Given the description of an element on the screen output the (x, y) to click on. 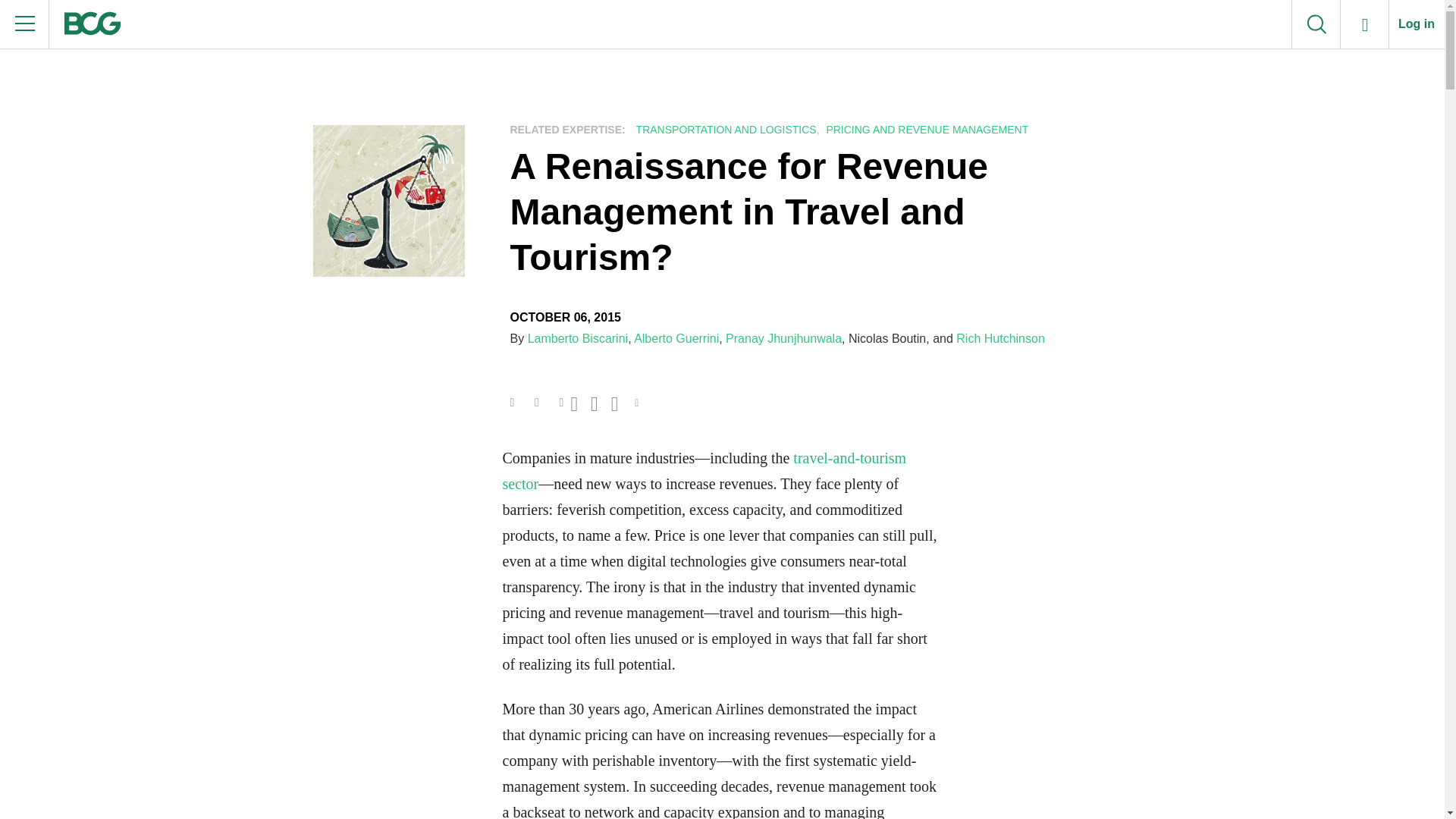
travel-and-tourism sector (703, 470)
Pranay Jhunjhunwala (783, 338)
Alberto Guerrini (676, 338)
TRANSPORTATION AND LOGISTICS (723, 129)
Lamberto Biscarini (577, 338)
Rich Hutchinson (1000, 338)
PRICING AND REVENUE MANAGEMENT (924, 129)
Log in (1416, 24)
